Given the description of an element on the screen output the (x, y) to click on. 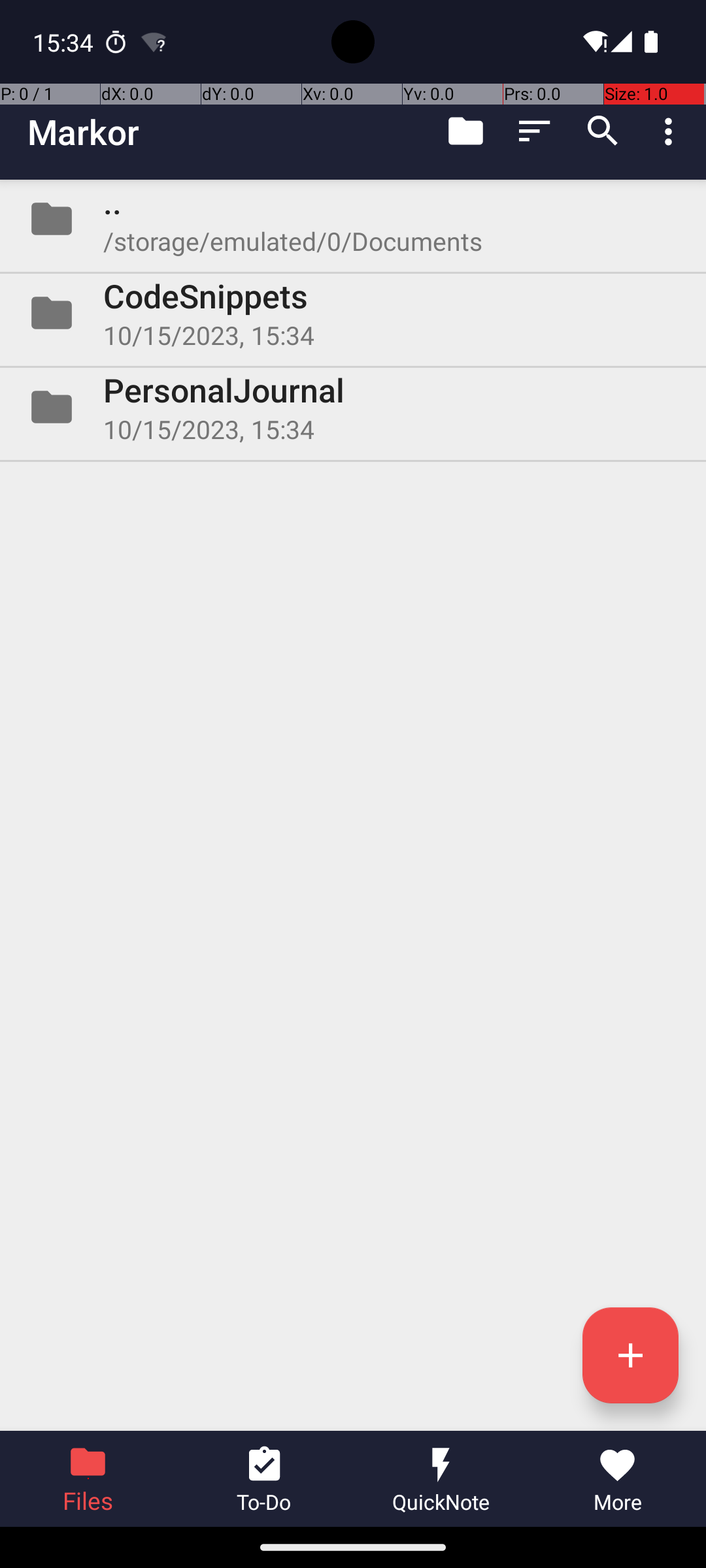
Folder CodeSnippets  Element type: android.widget.LinearLayout (353, 312)
Folder PersonalJournal  Element type: android.widget.LinearLayout (353, 406)
